Given the description of an element on the screen output the (x, y) to click on. 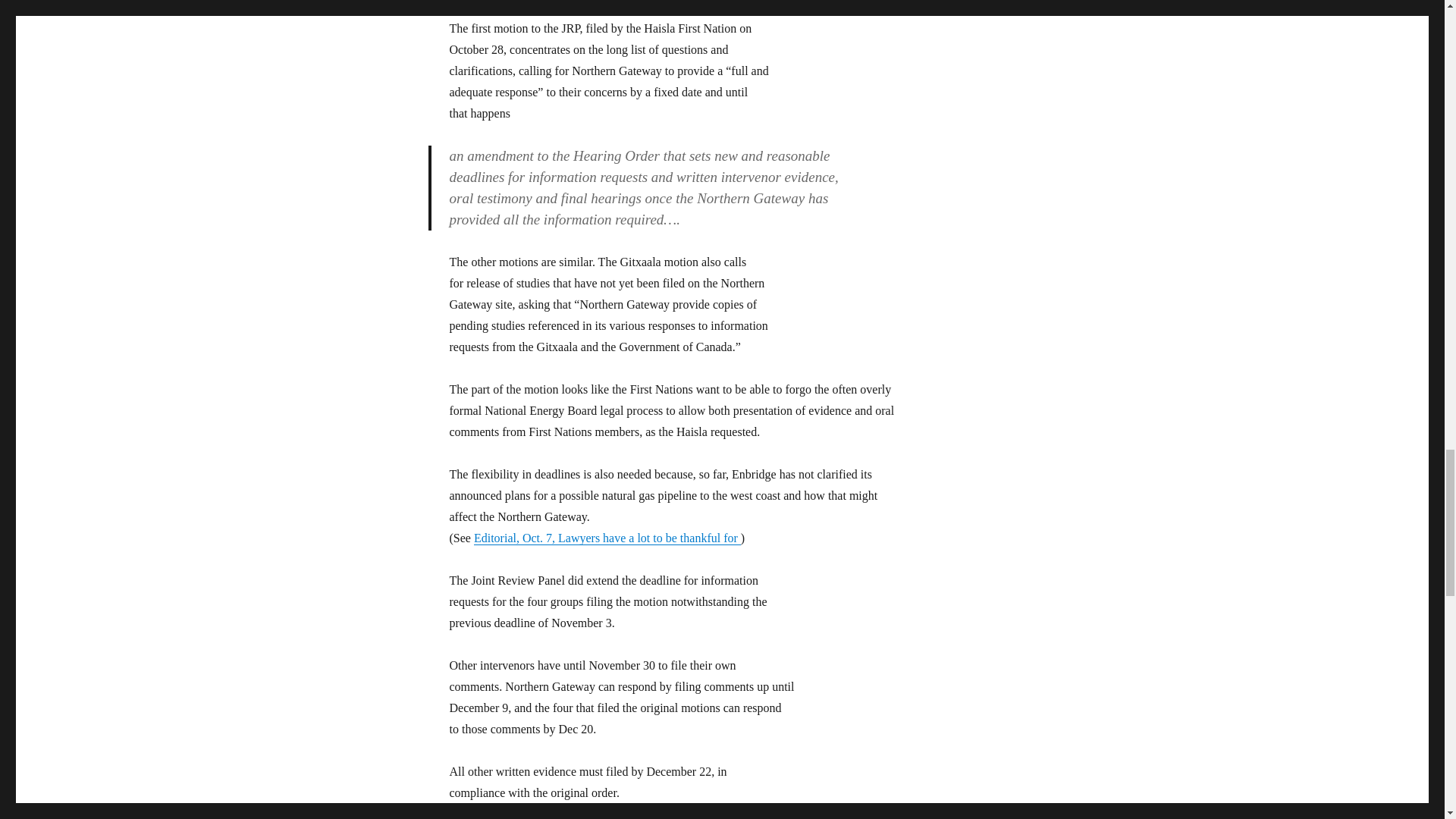
Editorial, Oct. 7, Lawyers have a lot to be thankful for (607, 537)
